Given the description of an element on the screen output the (x, y) to click on. 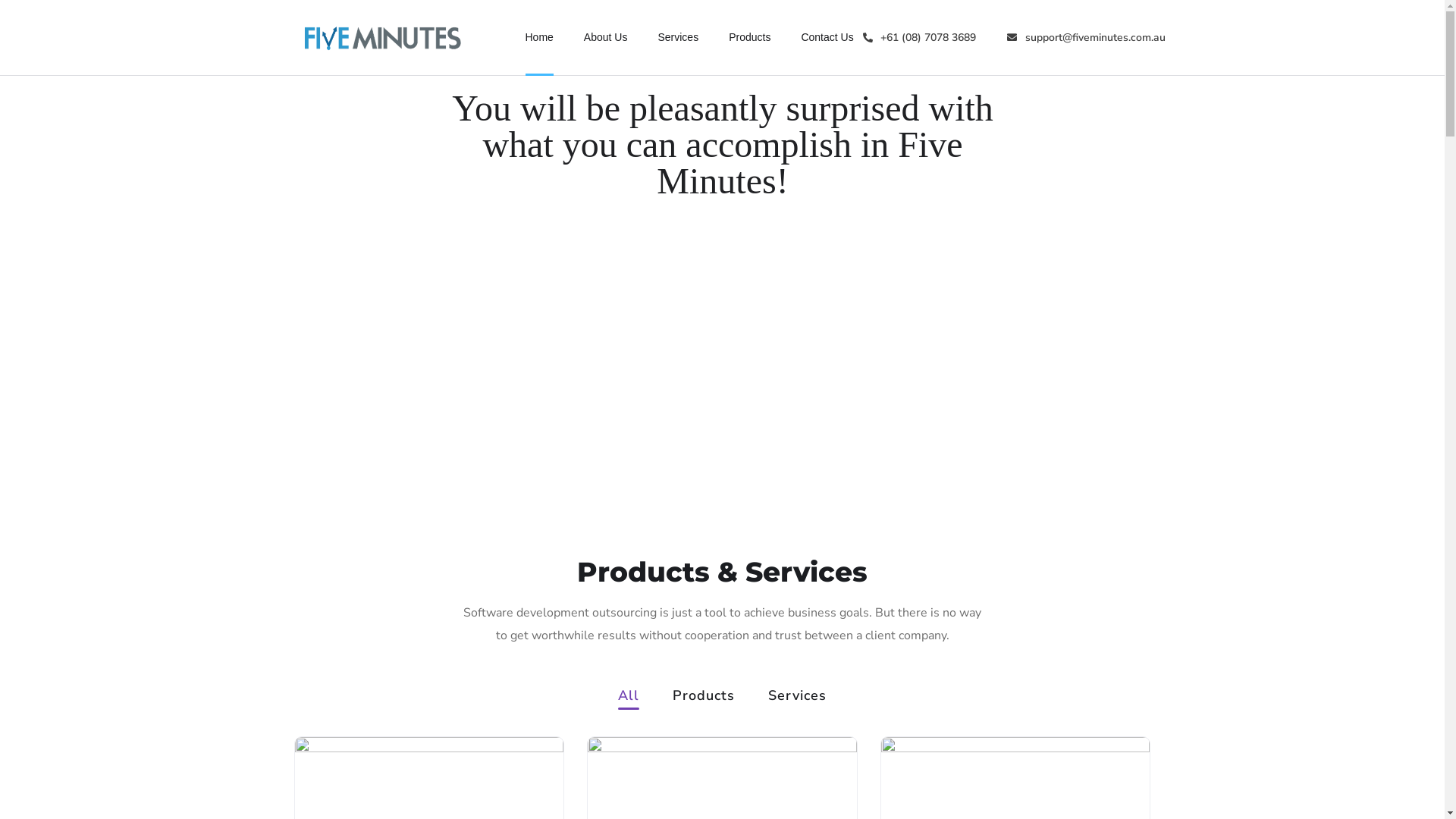
support@fiveminutes.com.au Element type: text (1085, 37)
Products Element type: text (749, 37)
Services Element type: text (677, 37)
Products Element type: text (703, 698)
All Element type: text (628, 698)
Services Element type: text (797, 698)
+61 (08) 7078 3689 Element type: text (918, 37)
Contact Us Element type: text (826, 37)
About Us Element type: text (605, 37)
Home Element type: text (538, 37)
